Given the description of an element on the screen output the (x, y) to click on. 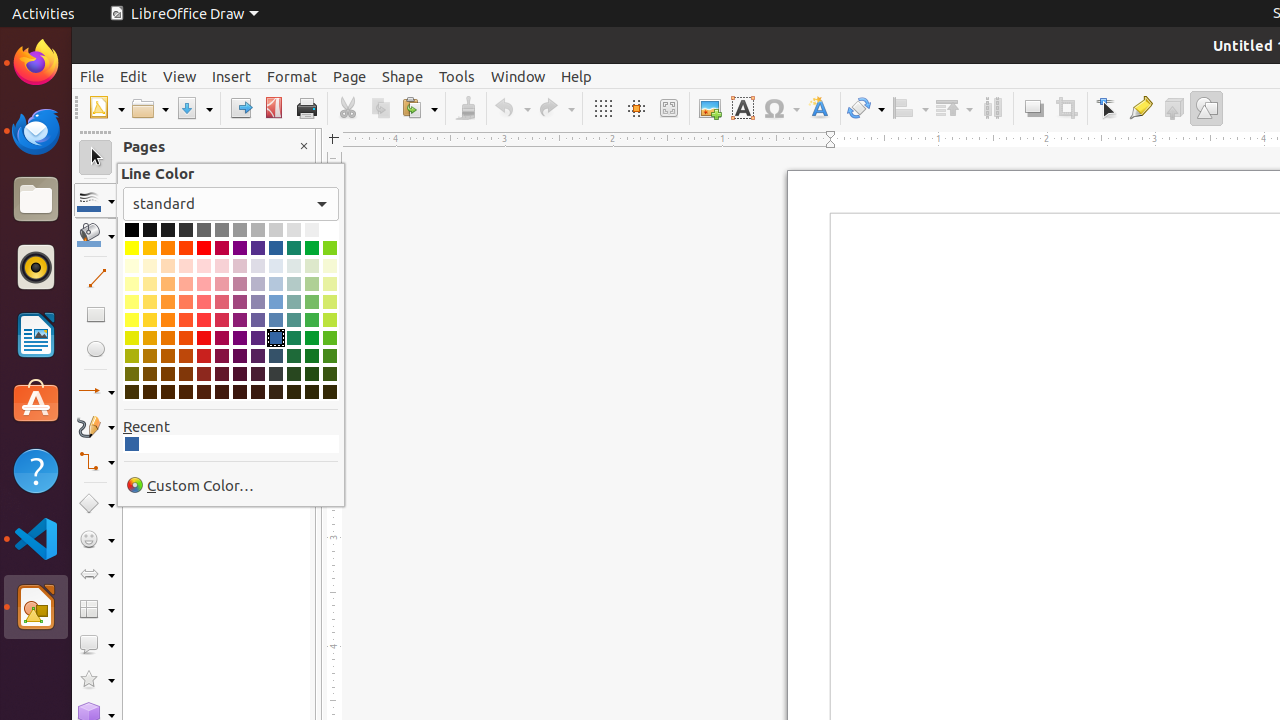
Light Gray 1 Element type: list-item (240, 230)
Light Green 1 Element type: list-item (312, 320)
Light Indigo 3 Element type: list-item (258, 284)
Dark Gray 3 Element type: list-item (168, 230)
Dark Green 3 Element type: list-item (312, 374)
